Given the description of an element on the screen output the (x, y) to click on. 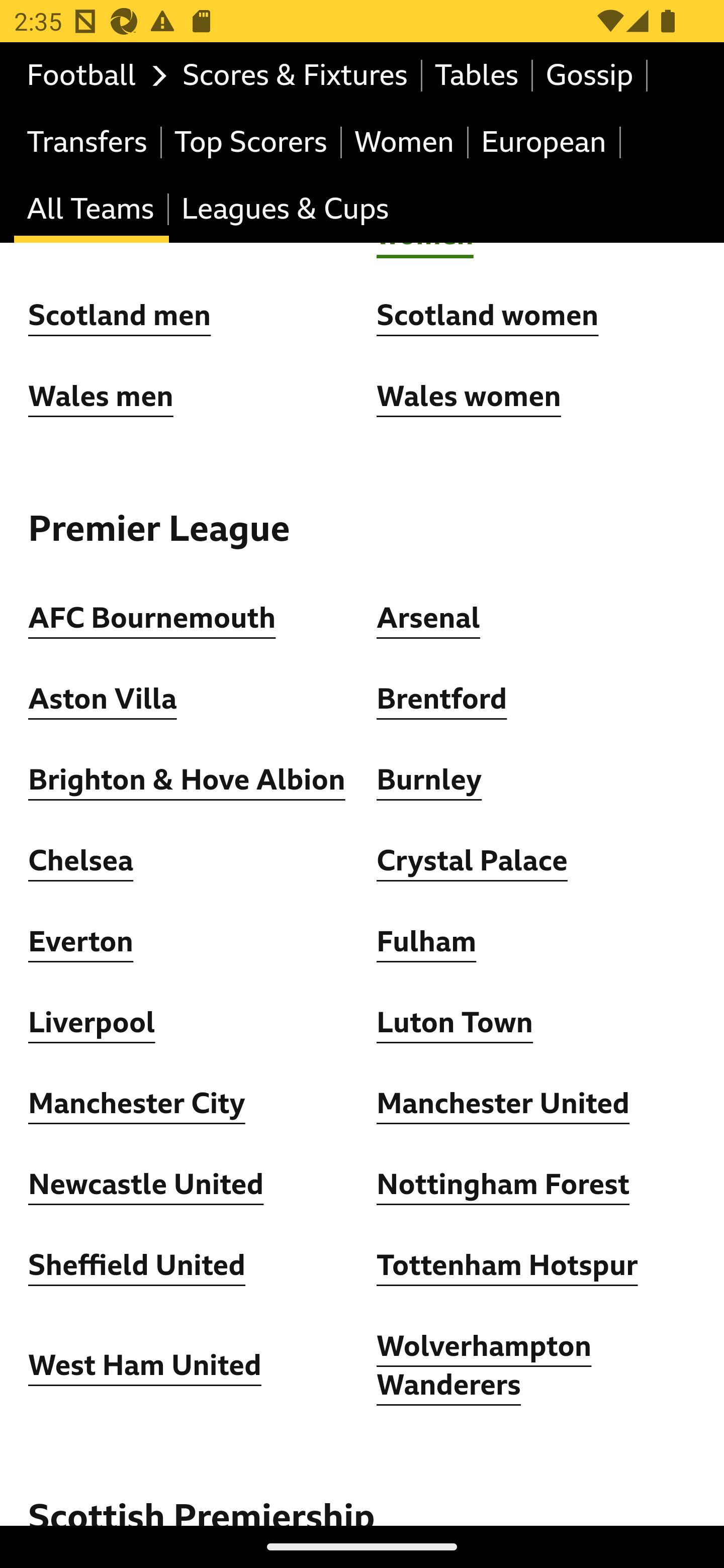
Scotland men (120, 316)
Scotland women (487, 316)
Wales men (100, 397)
Wales women (468, 397)
AFC Bournemouth (151, 619)
Arsenal (428, 619)
Aston Villa (102, 700)
Brentford (442, 700)
Brighton & Hove Albion (187, 780)
Burnley (429, 780)
Chelsea (80, 861)
Crystal Palace (472, 861)
Everton (80, 942)
Fulham (426, 942)
Liverpool (92, 1023)
Luton Town (455, 1023)
Manchester City (137, 1104)
Manchester United (503, 1104)
Newcastle United (146, 1185)
Nottingham Forest (503, 1185)
Sheffield United (137, 1266)
Tottenham Hotspur (507, 1266)
Wolverhampton Wanderers (484, 1366)
West Ham United (145, 1366)
